Given the description of an element on the screen output the (x, y) to click on. 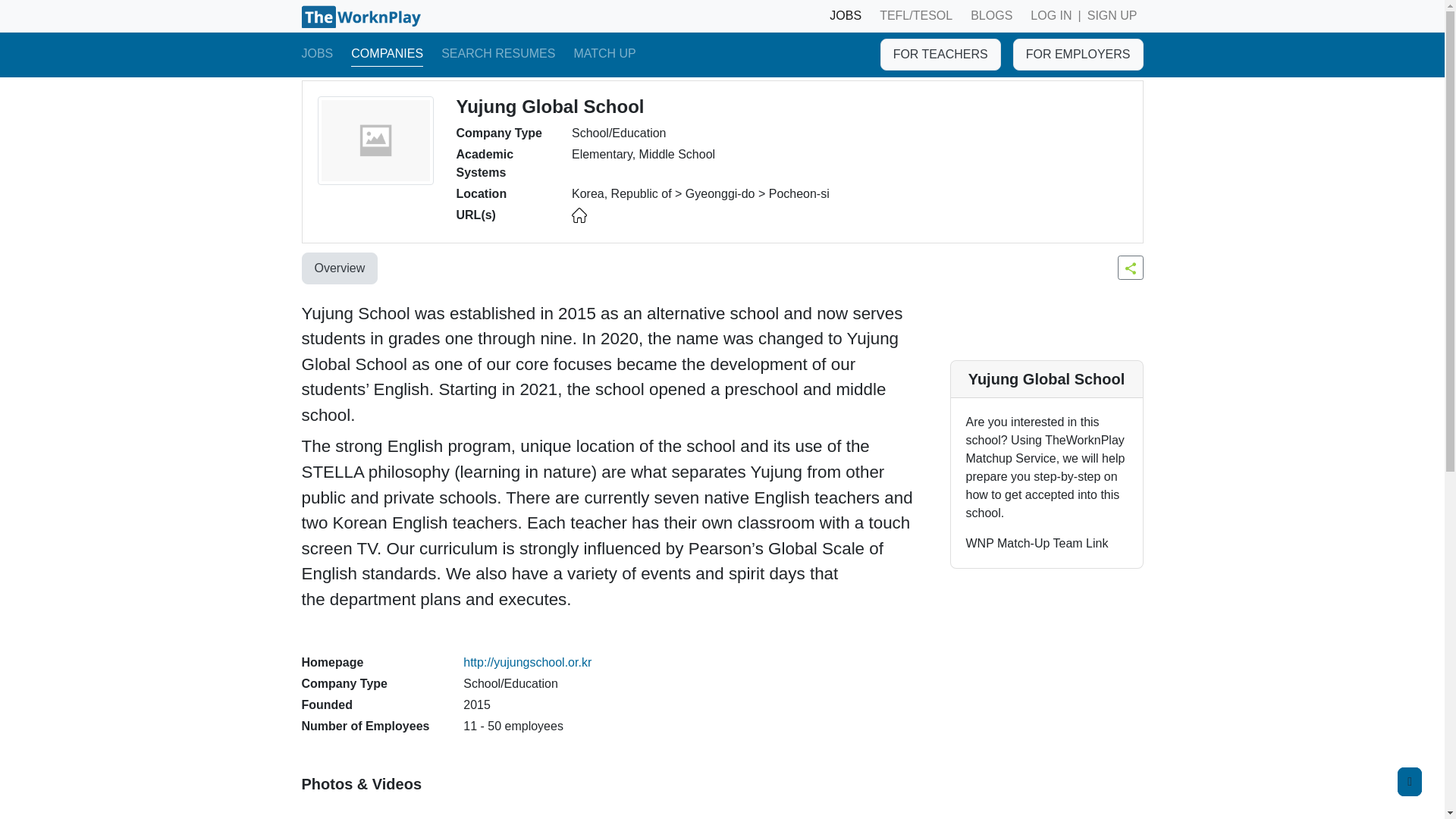
Homepage (527, 662)
MATCH UP (603, 53)
COMPANIES (386, 53)
SIGN UP (1111, 15)
Homepage (579, 215)
BLOGS (990, 15)
Overview (339, 268)
SEARCH RESUMES (497, 53)
FOR TEACHERS (940, 54)
LOG IN (1051, 15)
WNP Match-Up Team Link (1037, 543)
FOR EMPLOYERS (1077, 54)
Yujung Global School (374, 140)
JOBS (317, 53)
JOBS (845, 15)
